Given the description of an element on the screen output the (x, y) to click on. 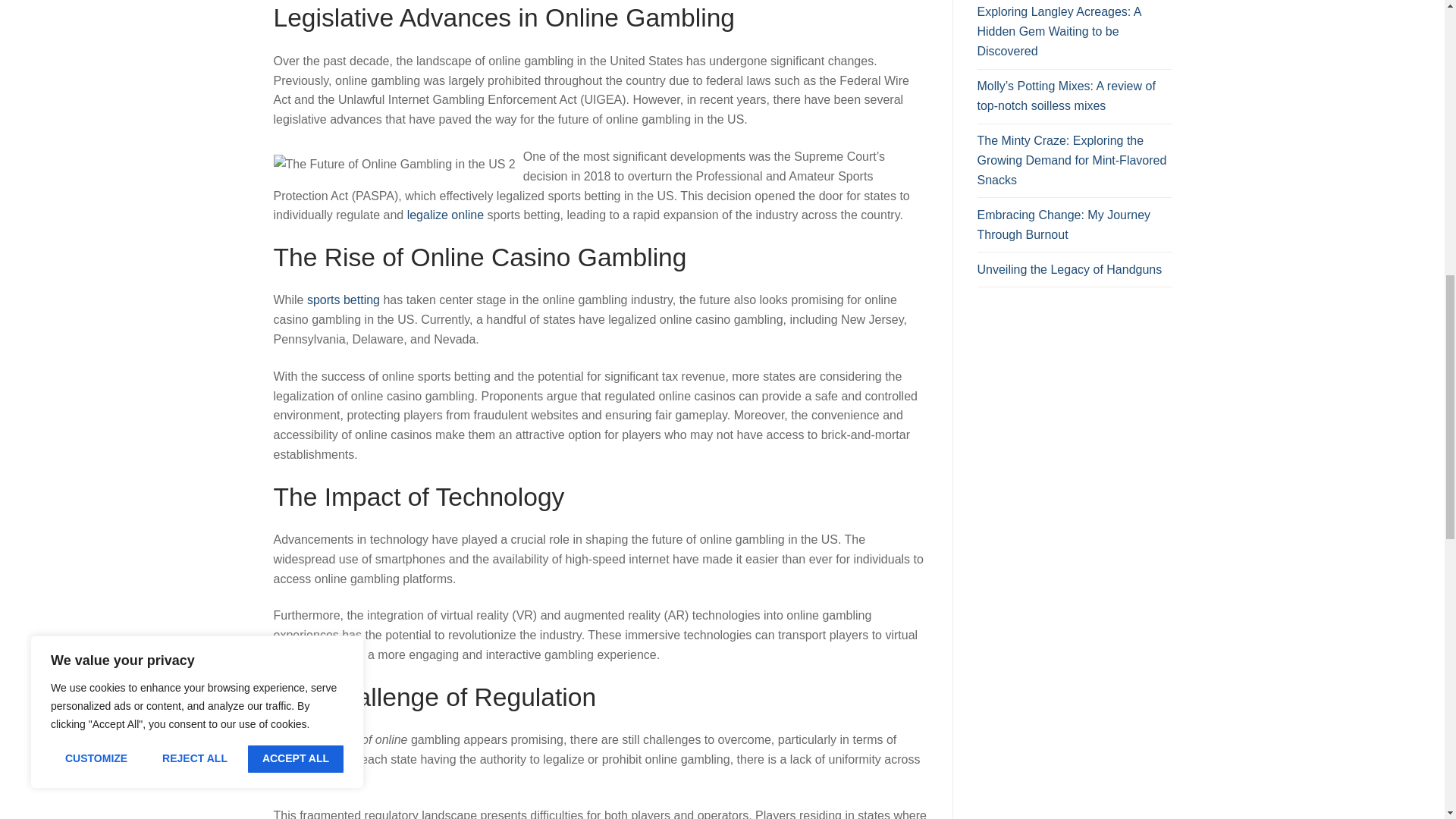
legalize online (445, 214)
sports betting (343, 299)
